Given the description of an element on the screen output the (x, y) to click on. 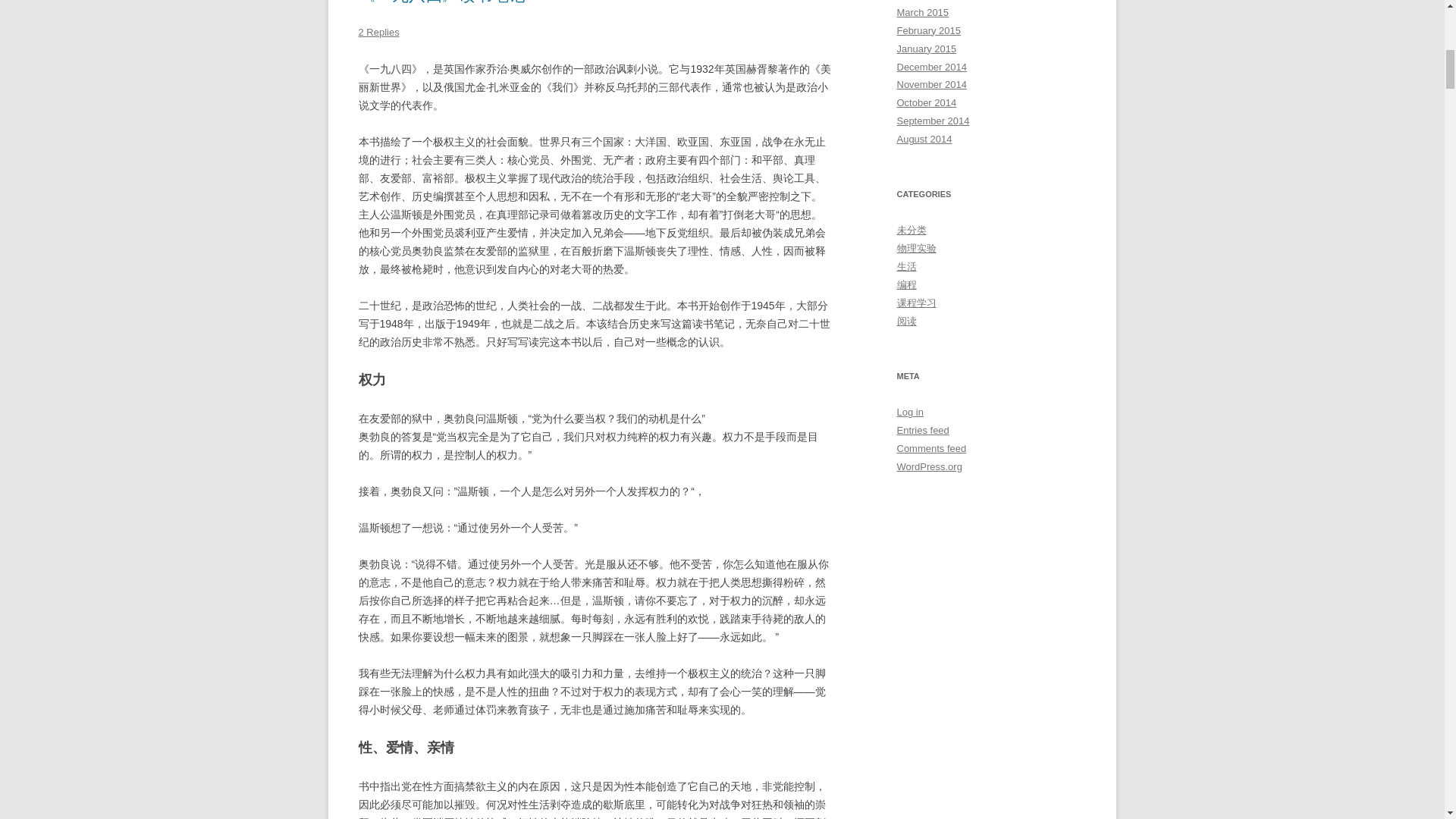
2 Replies (378, 31)
